Given the description of an element on the screen output the (x, y) to click on. 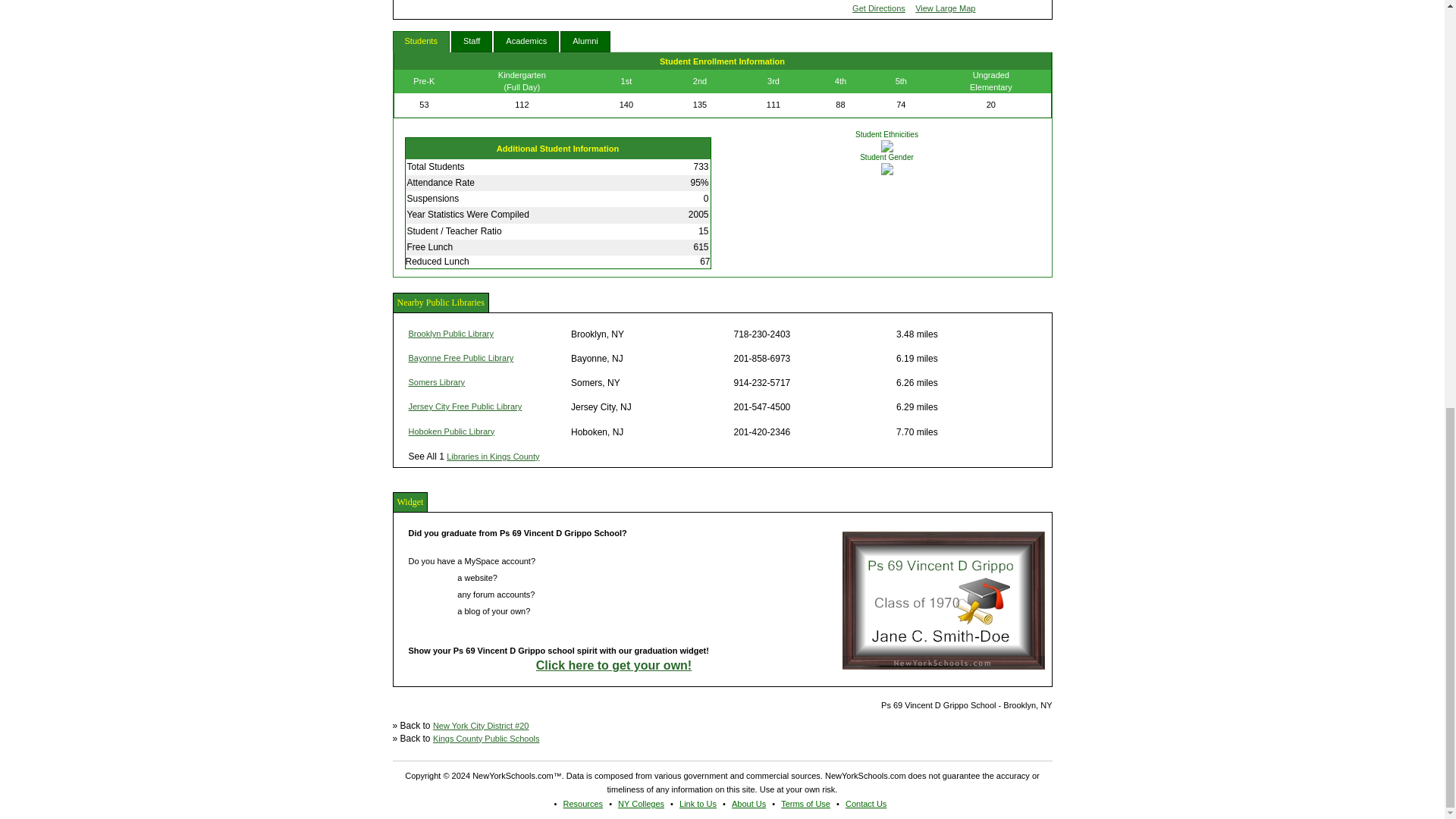
Staff (471, 41)
View Large Map (945, 8)
Students (421, 41)
Get Directions (878, 8)
